Given the description of an element on the screen output the (x, y) to click on. 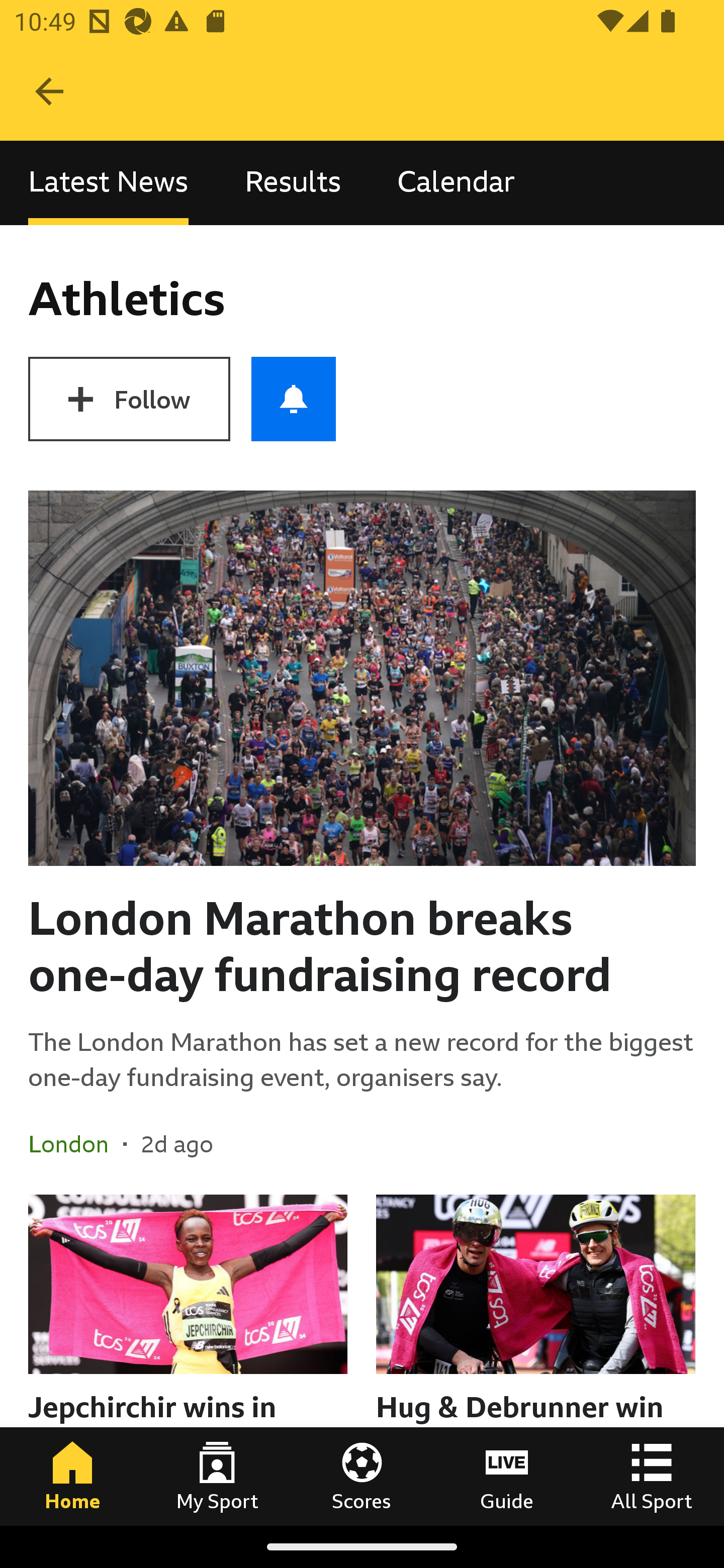
Navigate up (49, 91)
Latest News, selected Latest News (108, 183)
Results (292, 183)
Calendar (456, 183)
Follow Athletics Follow (129, 398)
Push notifications for Athletics (293, 398)
London In the section London (75, 1143)
My Sport (216, 1475)
Scores (361, 1475)
Guide (506, 1475)
All Sport (651, 1475)
